Given the description of an element on the screen output the (x, y) to click on. 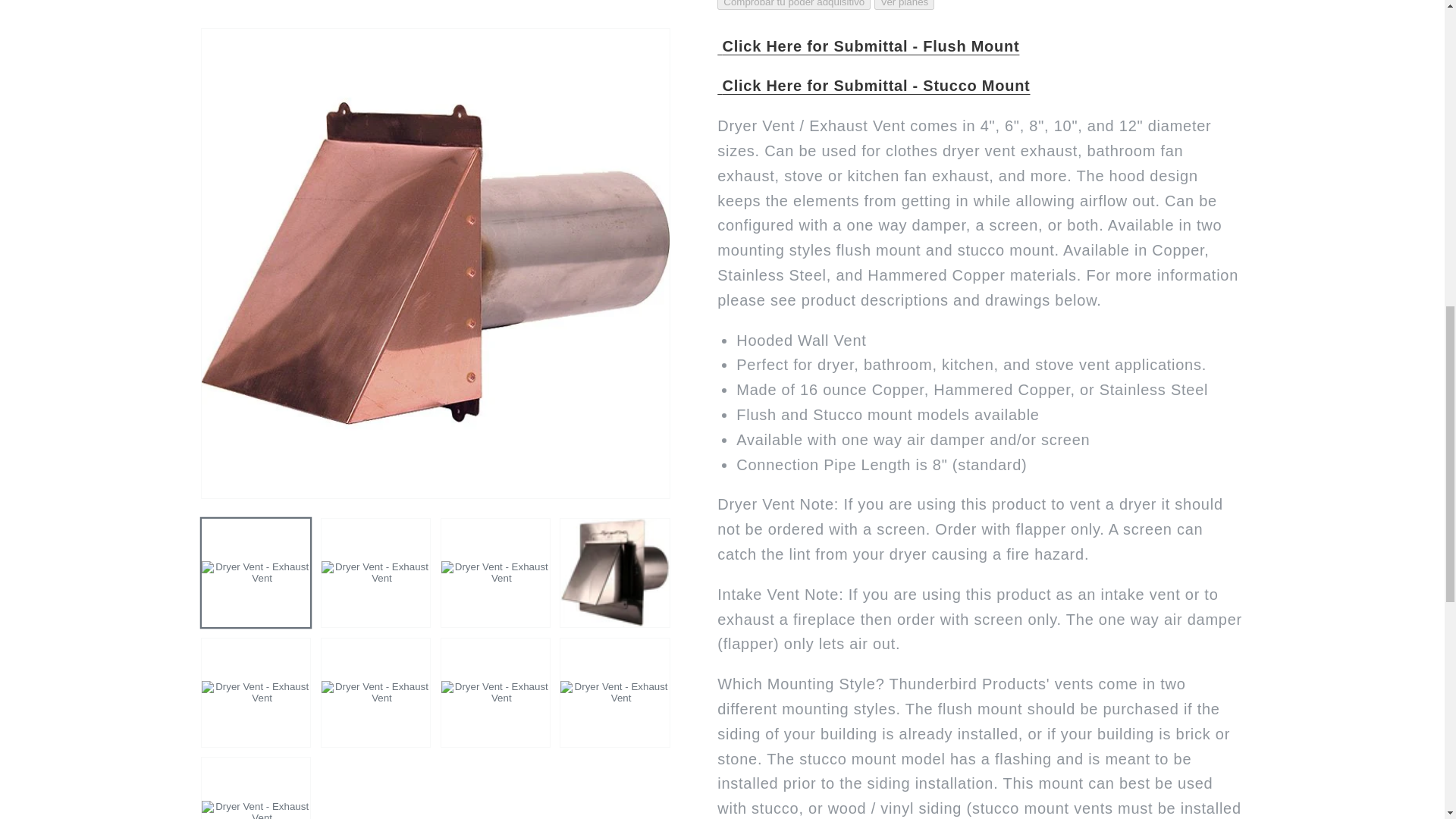
Dryer Vent - Exhaust Vent - Flush  (868, 45)
Dryer Vent - Exhaust Vent - Stucco (873, 85)
